Given the description of an element on the screen output the (x, y) to click on. 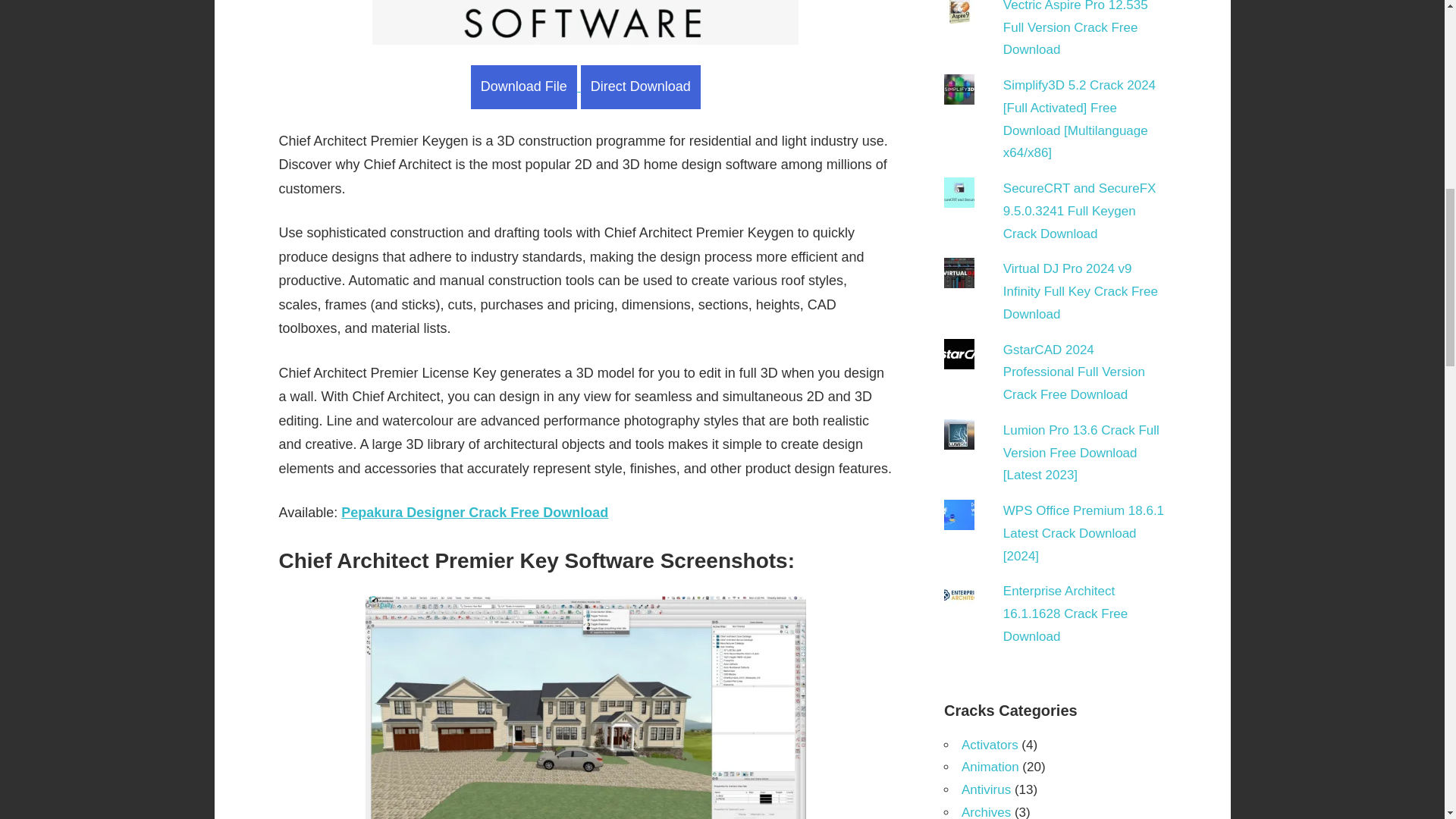
Vectric Aspire Pro 12.535 Full Version Crack Free Download (1075, 28)
Virtual DJ Pro 2024 v9 Infinity Full Key Crack Free Download (1080, 291)
Direct Download (640, 86)
Pepakura Designer Crack Free Download (474, 512)
SecureCRT and SecureFX 9.5.0.3241 Full Keygen Crack Download (1079, 210)
Download File Direct Download (585, 86)
GstarCAD 2024 Professional Full Version Crack Free Download (1073, 372)
Download File (523, 86)
